Given the description of an element on the screen output the (x, y) to click on. 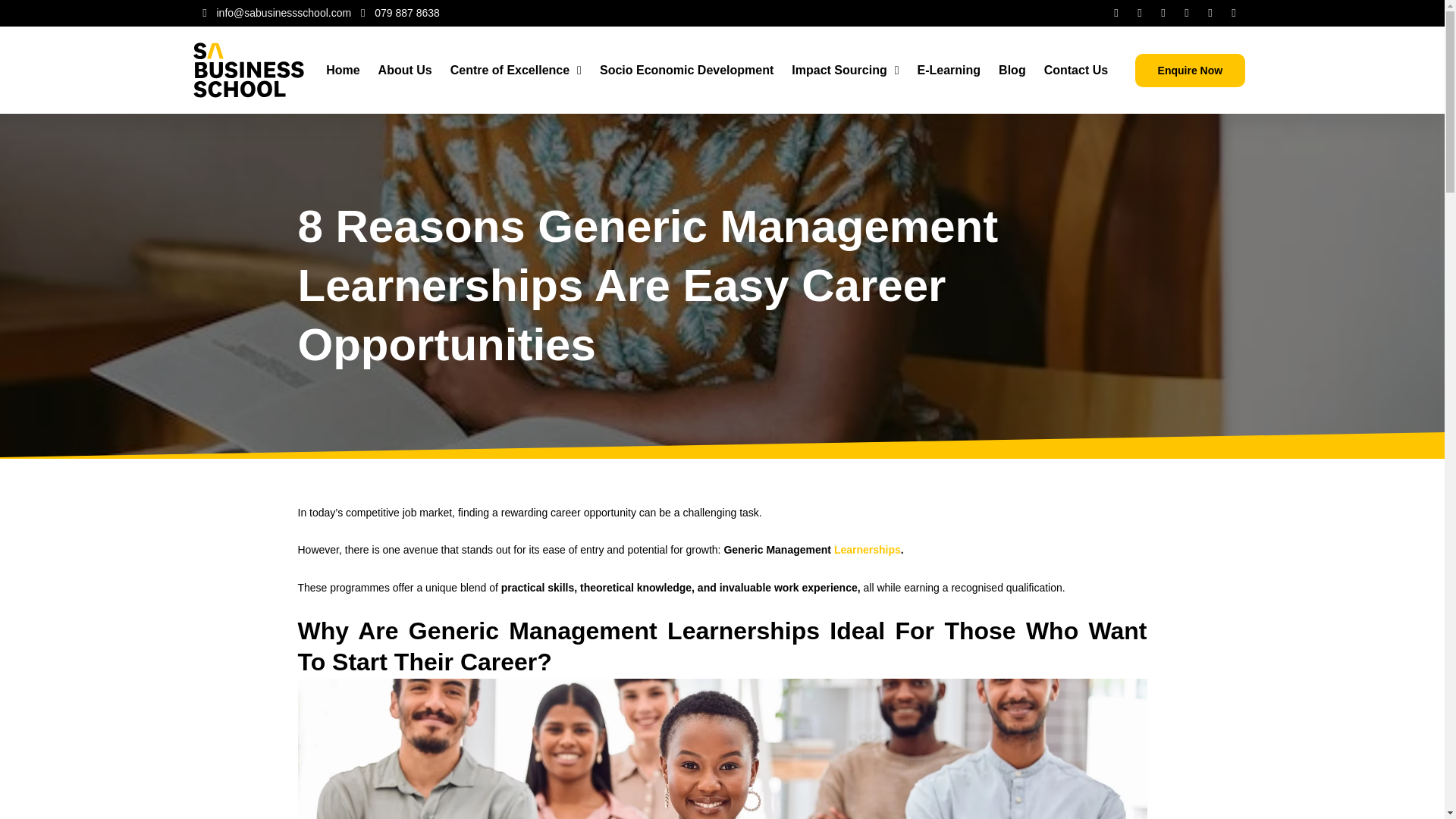
About Us (405, 69)
Blog (1012, 69)
079 887 8638 (397, 13)
Impact Sourcing (845, 69)
Contact Us (1075, 69)
Socio Economic Development (687, 69)
Home (342, 69)
E-Learning (949, 69)
Centre of Excellence (516, 69)
